Given the description of an element on the screen output the (x, y) to click on. 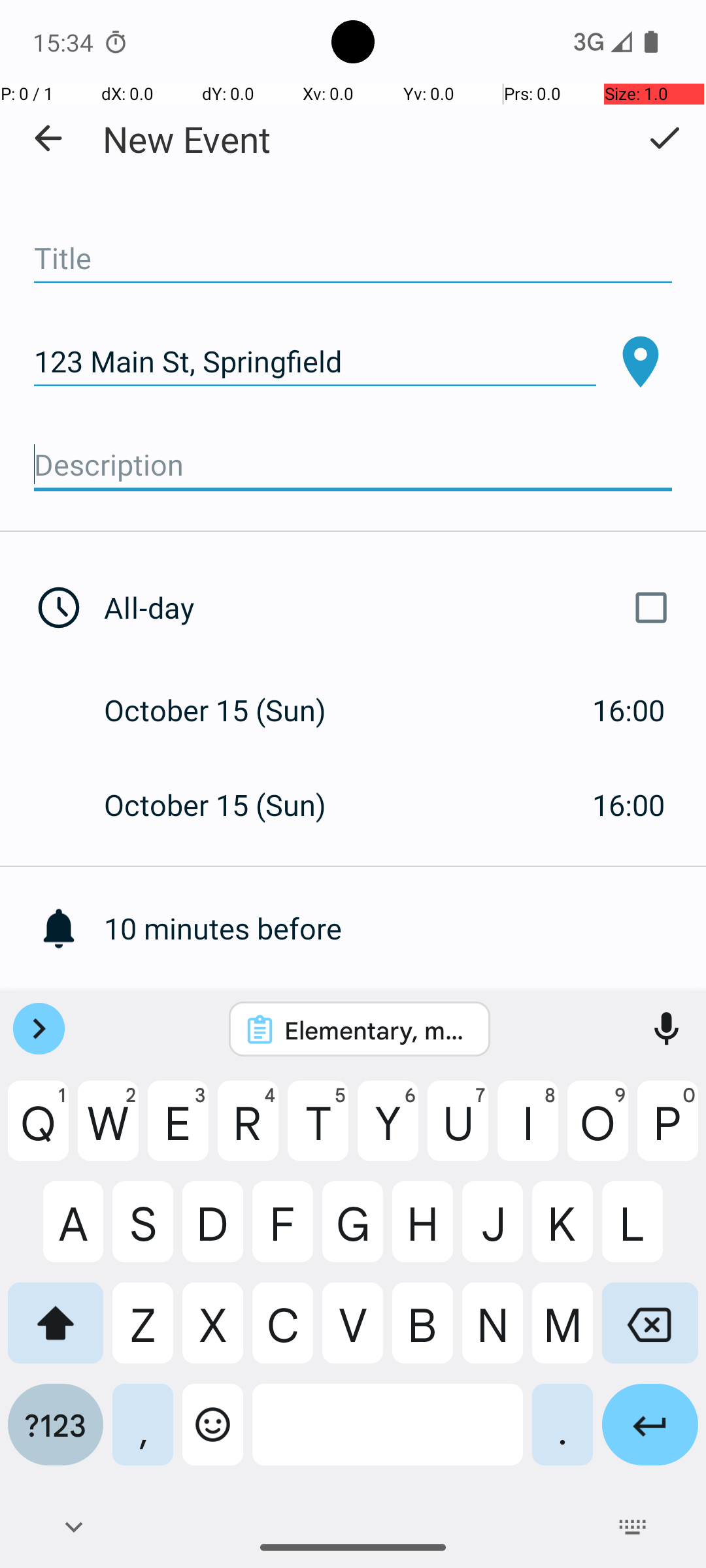
123 Main St, Springfield Element type: android.widget.EditText (314, 361)
Elementary, my dear Watson. Element type: android.widget.TextView (376, 1029)
